Given the description of an element on the screen output the (x, y) to click on. 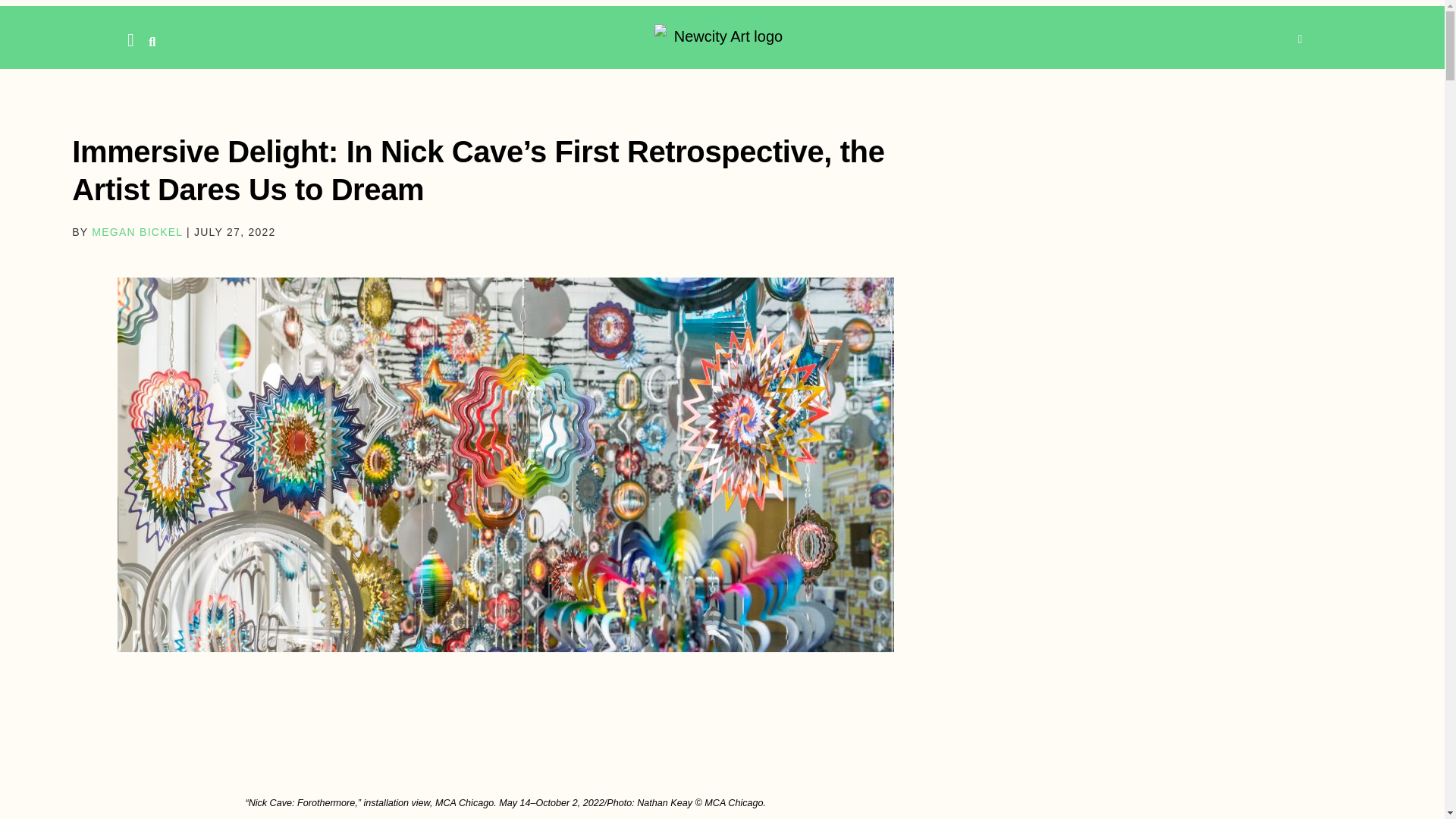
MEGAN BICKEL (137, 232)
NewcityArt (721, 36)
